Given the description of an element on the screen output the (x, y) to click on. 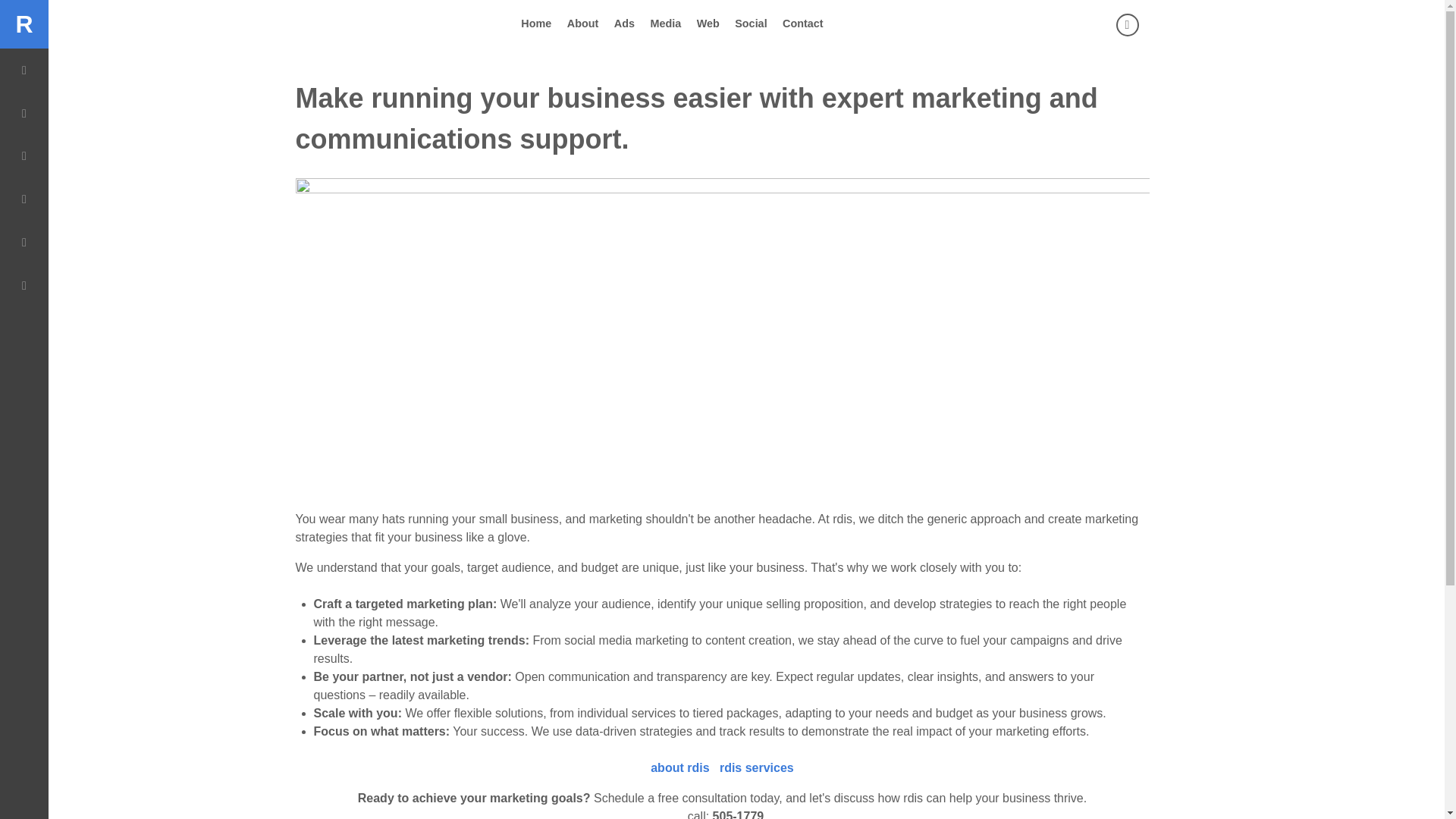
R (24, 24)
Home (536, 23)
Web (708, 23)
R (24, 24)
about rdis (679, 767)
Ads (624, 23)
rdis services (756, 767)
Contact (803, 23)
Social (751, 23)
About (582, 23)
Media (665, 23)
